Given the description of an element on the screen output the (x, y) to click on. 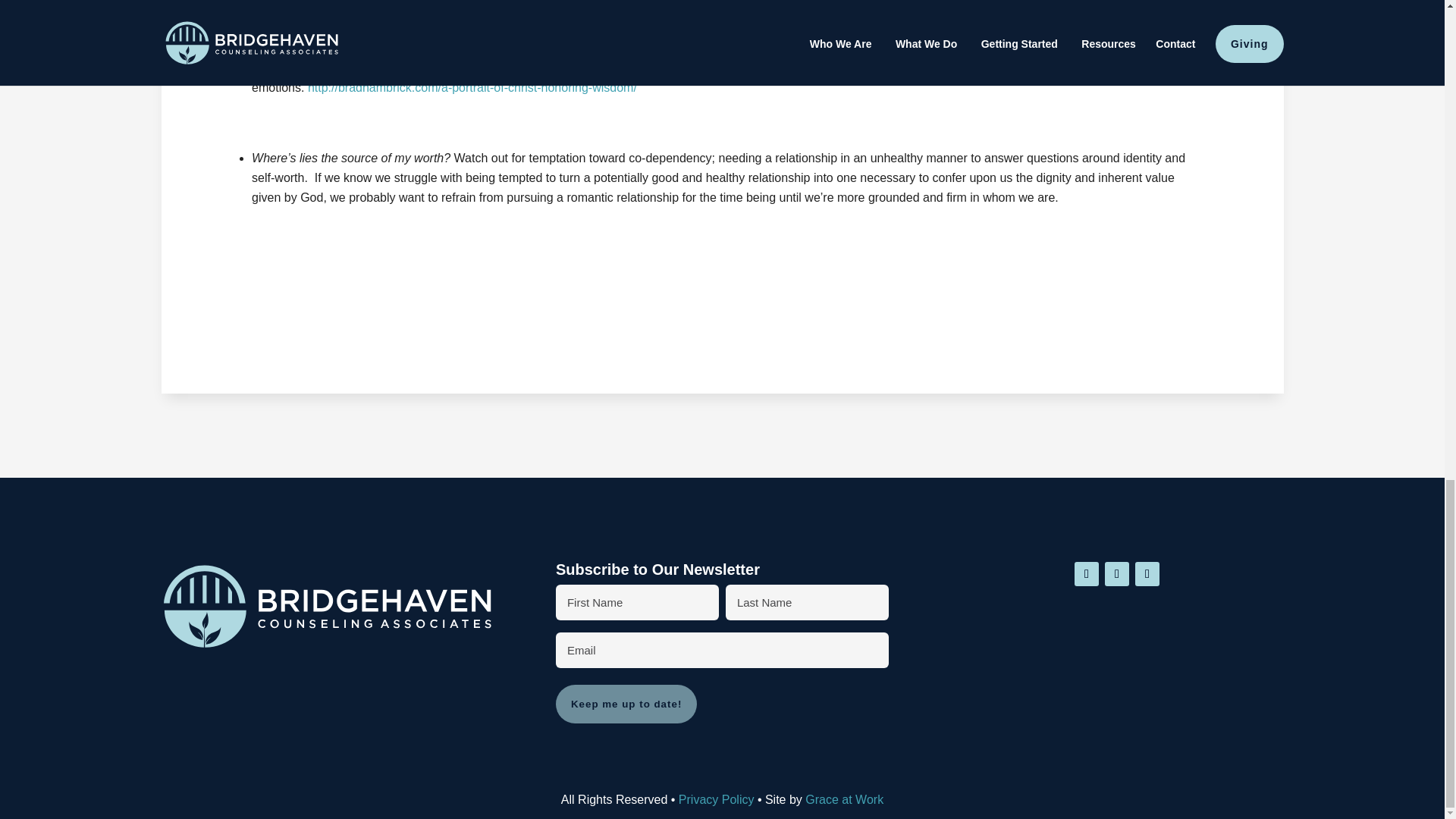
Privacy Policy (716, 799)
Follow on Instagram (1146, 573)
Grace at Work (844, 799)
Follow on X (1086, 573)
Keep me up to date! (626, 703)
Follow on Facebook (1117, 573)
Keep me up to date! (626, 703)
